Given the description of an element on the screen output the (x, y) to click on. 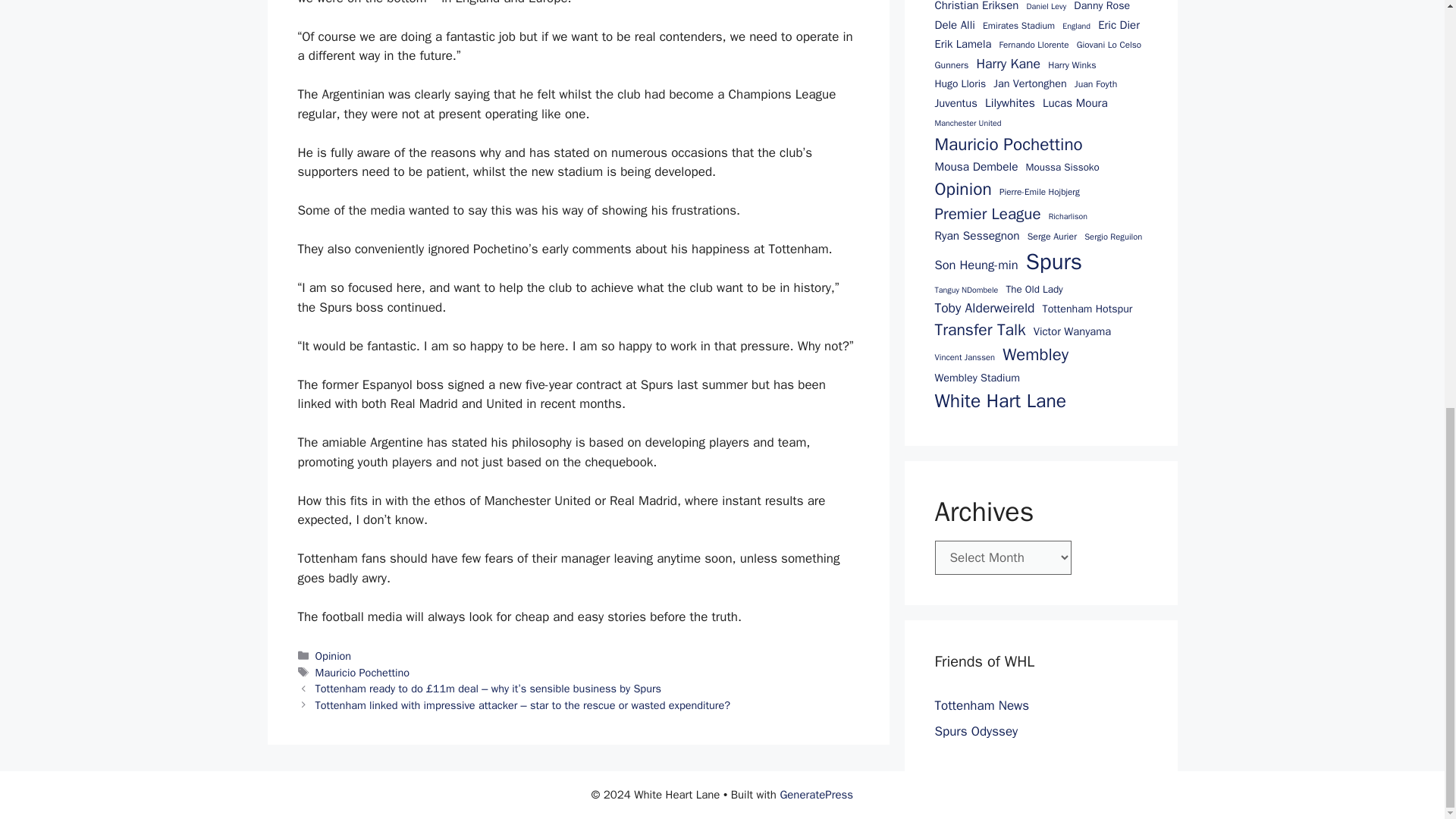
Daniel Levy (1045, 6)
Fernando Llorente (1033, 45)
Erik Lamela (962, 44)
Mauricio Pochettino (362, 672)
Eric Dier (1118, 24)
Harry Kane (1008, 64)
Dele Alli (954, 24)
Emirates Stadium (1018, 25)
Harry Winks (1072, 65)
Danny Rose (1101, 6)
